Given the description of an element on the screen output the (x, y) to click on. 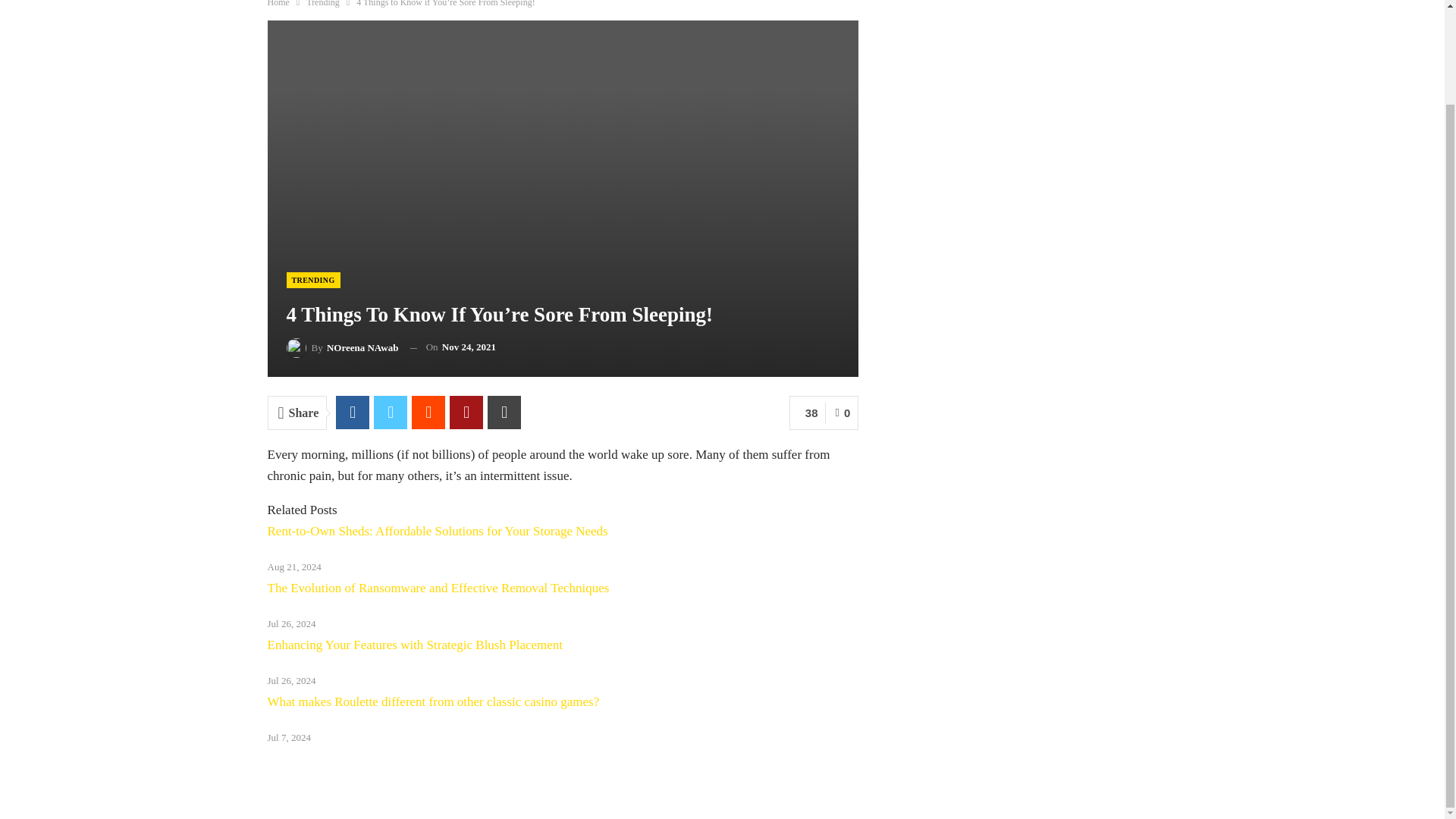
The Evolution of Ransomware and Effective Removal Techniques (437, 587)
0 (842, 412)
Home (277, 5)
TRENDING (313, 279)
Trending (322, 5)
By NOreena NAwab (342, 347)
Enhancing Your Features with Strategic Blush Placement (414, 644)
Browse Author Articles (342, 347)
